Given the description of an element on the screen output the (x, y) to click on. 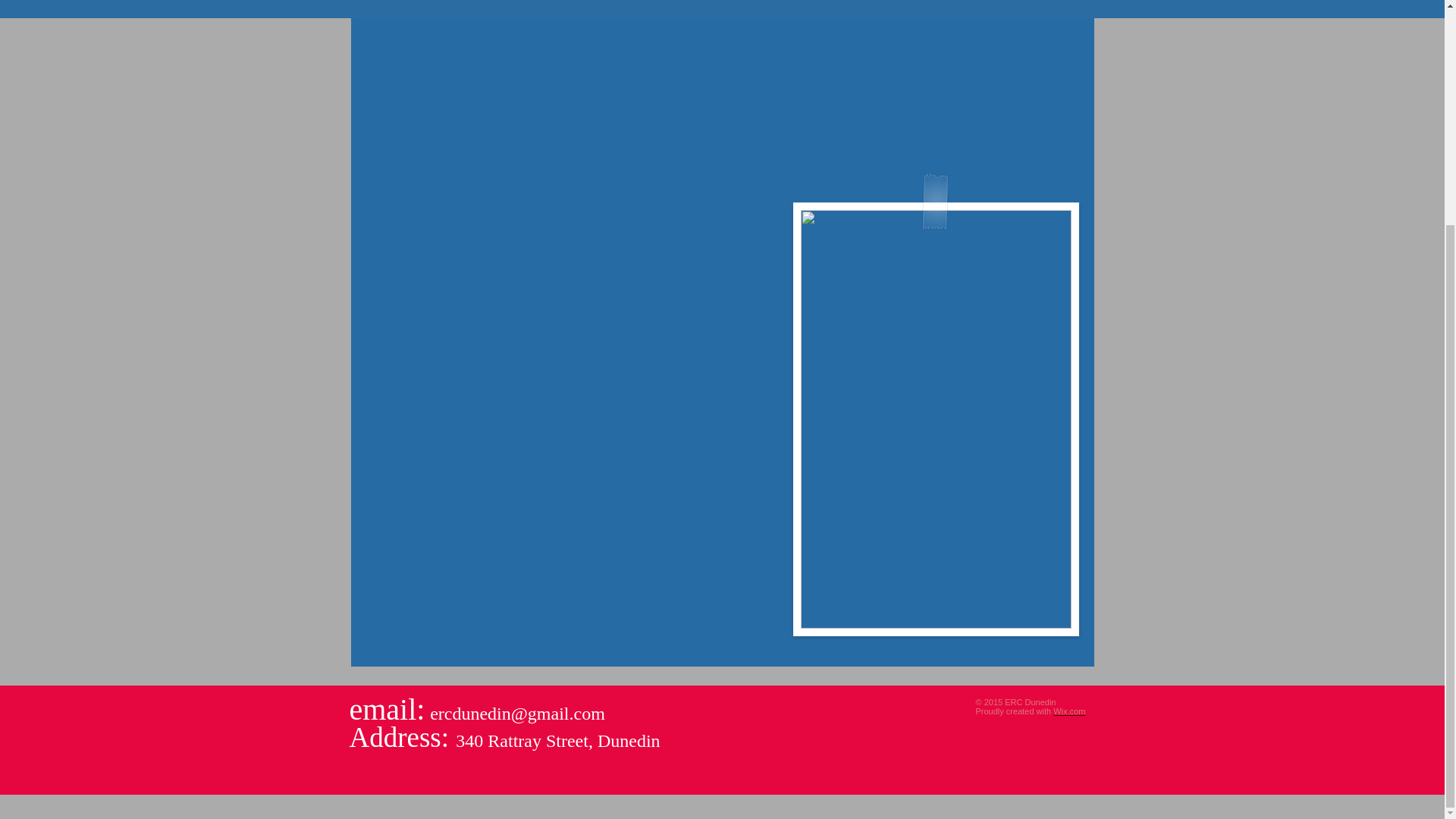
Wix.com (1068, 710)
